Given the description of an element on the screen output the (x, y) to click on. 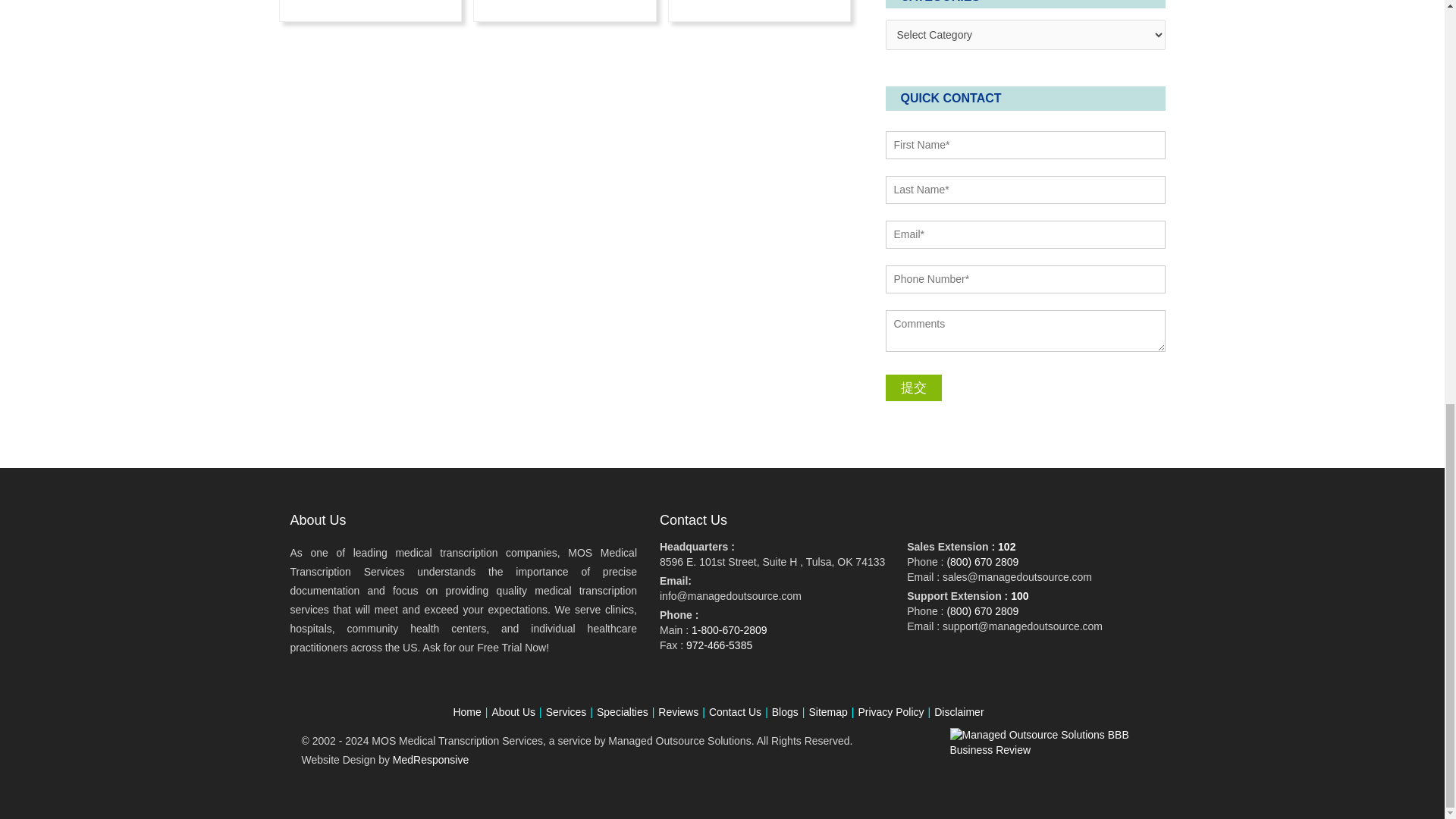
972-466-5385 (718, 645)
1-800-670-2809 (729, 630)
MedResponsive (430, 759)
